Given the description of an element on the screen output the (x, y) to click on. 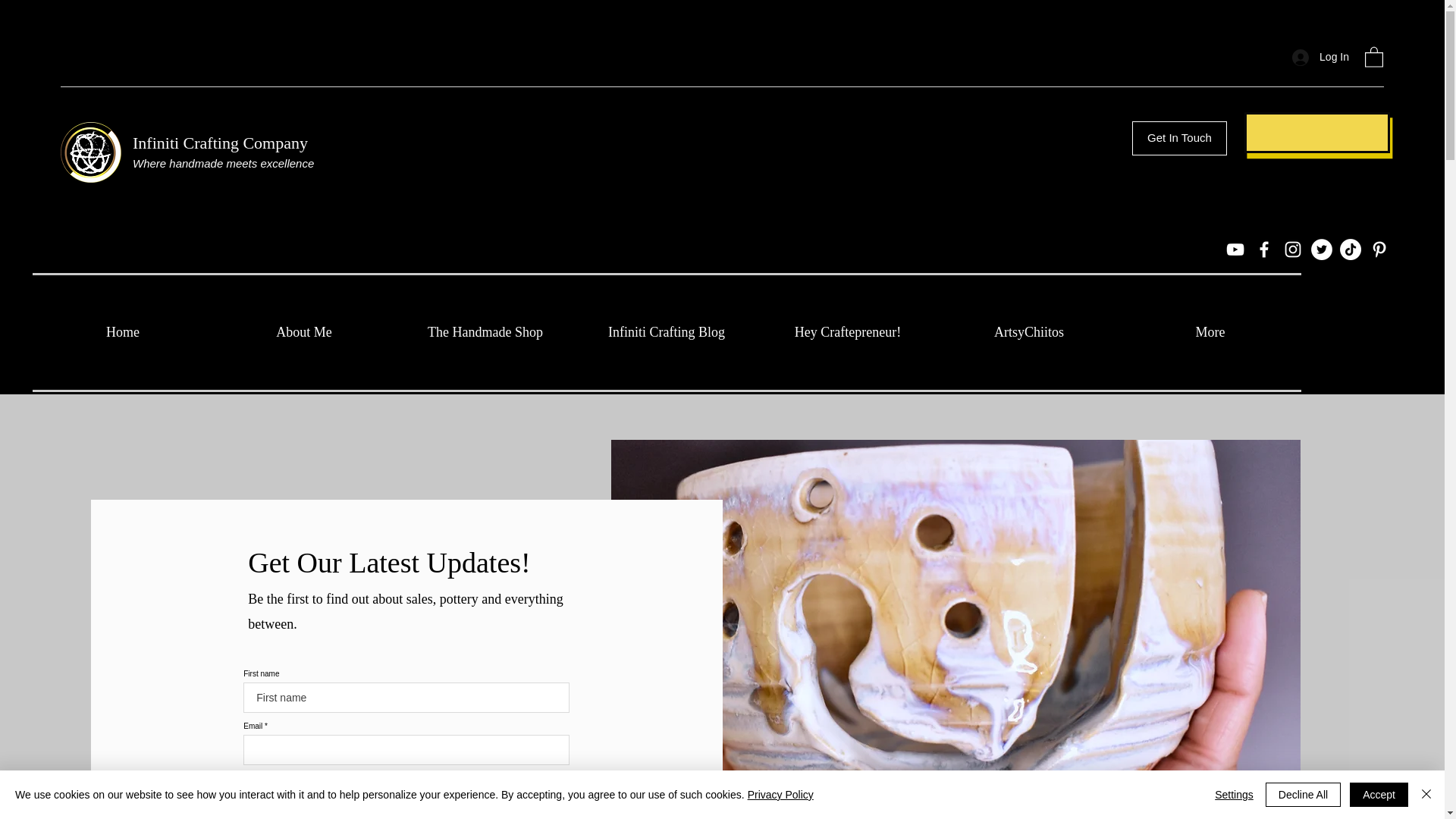
Infiniti Crafting Company (219, 142)
Hey Craftepreneur! (847, 332)
The Handmade Shop (484, 332)
Home (122, 332)
About Me (304, 332)
ArtsyChiitos (1029, 332)
Infiniti Crafting Blog (666, 332)
Get In Touch (1179, 138)
Log In (1320, 57)
